Given the description of an element on the screen output the (x, y) to click on. 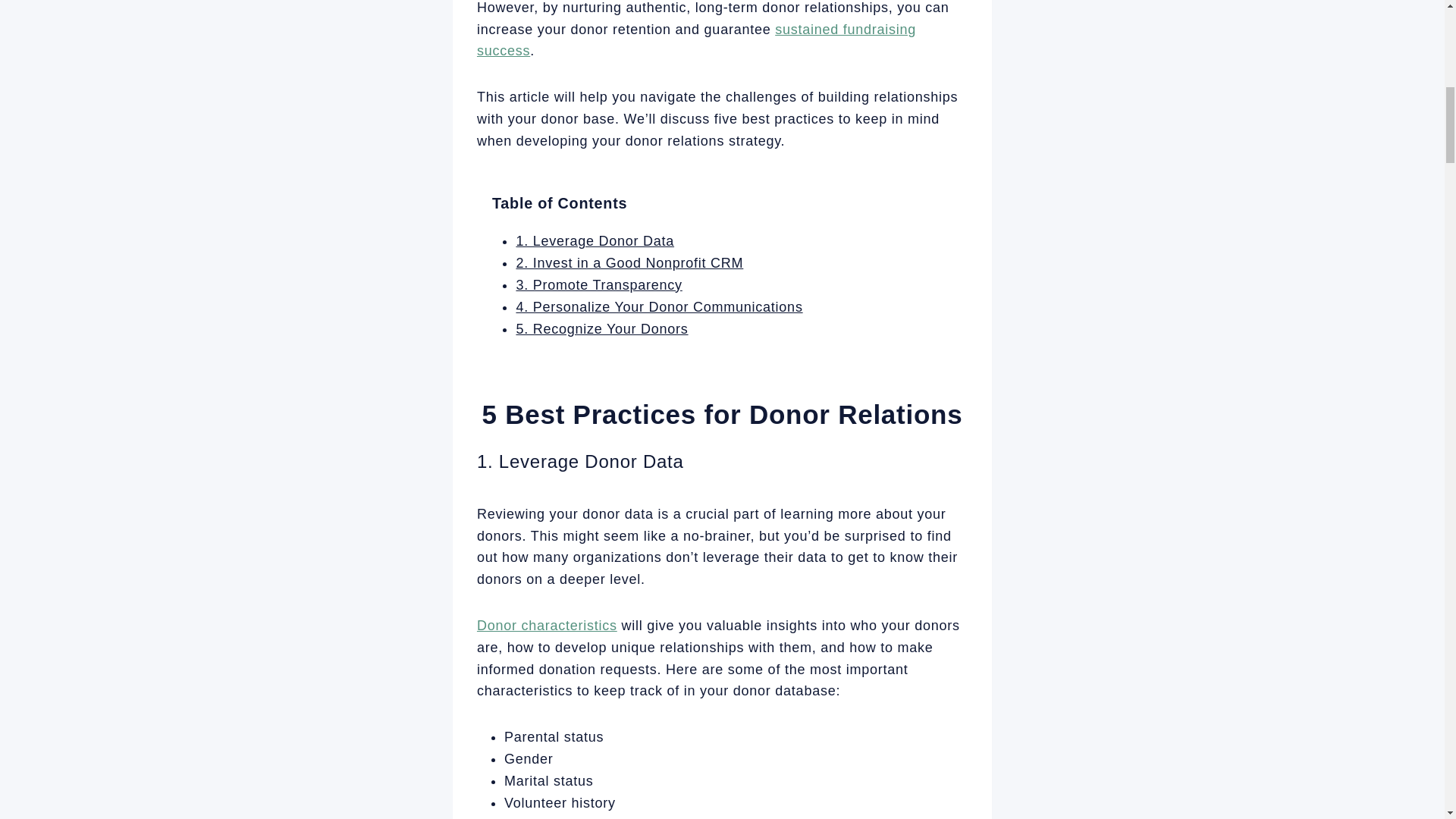
Donor characteristics (547, 625)
2. Invest in a Good Nonprofit CRM (628, 263)
sustained fundraising success (696, 40)
5. Recognize Your Donors (601, 328)
1. Leverage Donor Data (594, 240)
3. Promote Transparency (598, 284)
4. Personalize Your Donor Communications (658, 306)
